Given the description of an element on the screen output the (x, y) to click on. 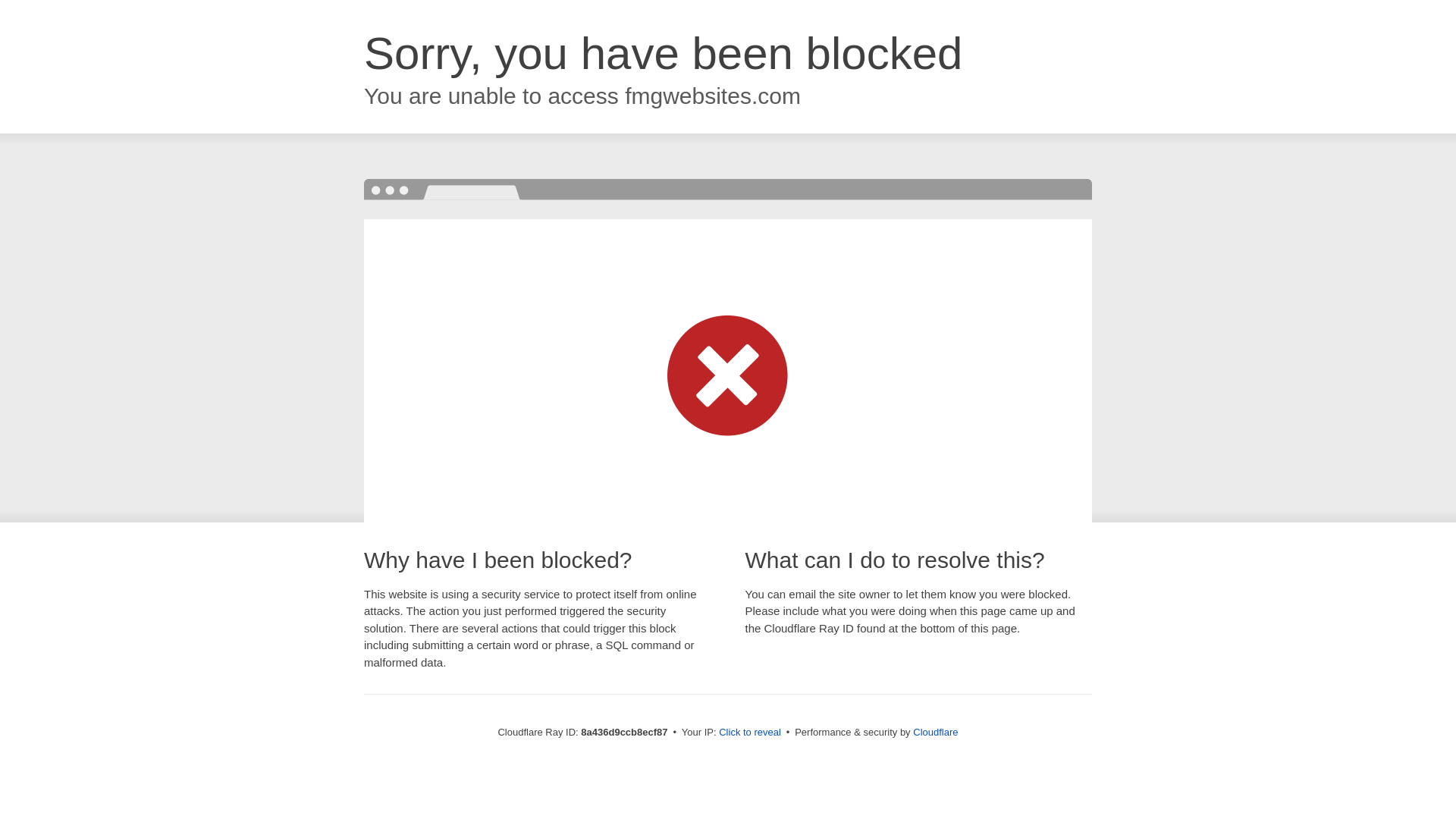
Cloudflare (935, 731)
Click to reveal (749, 732)
